Given the description of an element on the screen output the (x, y) to click on. 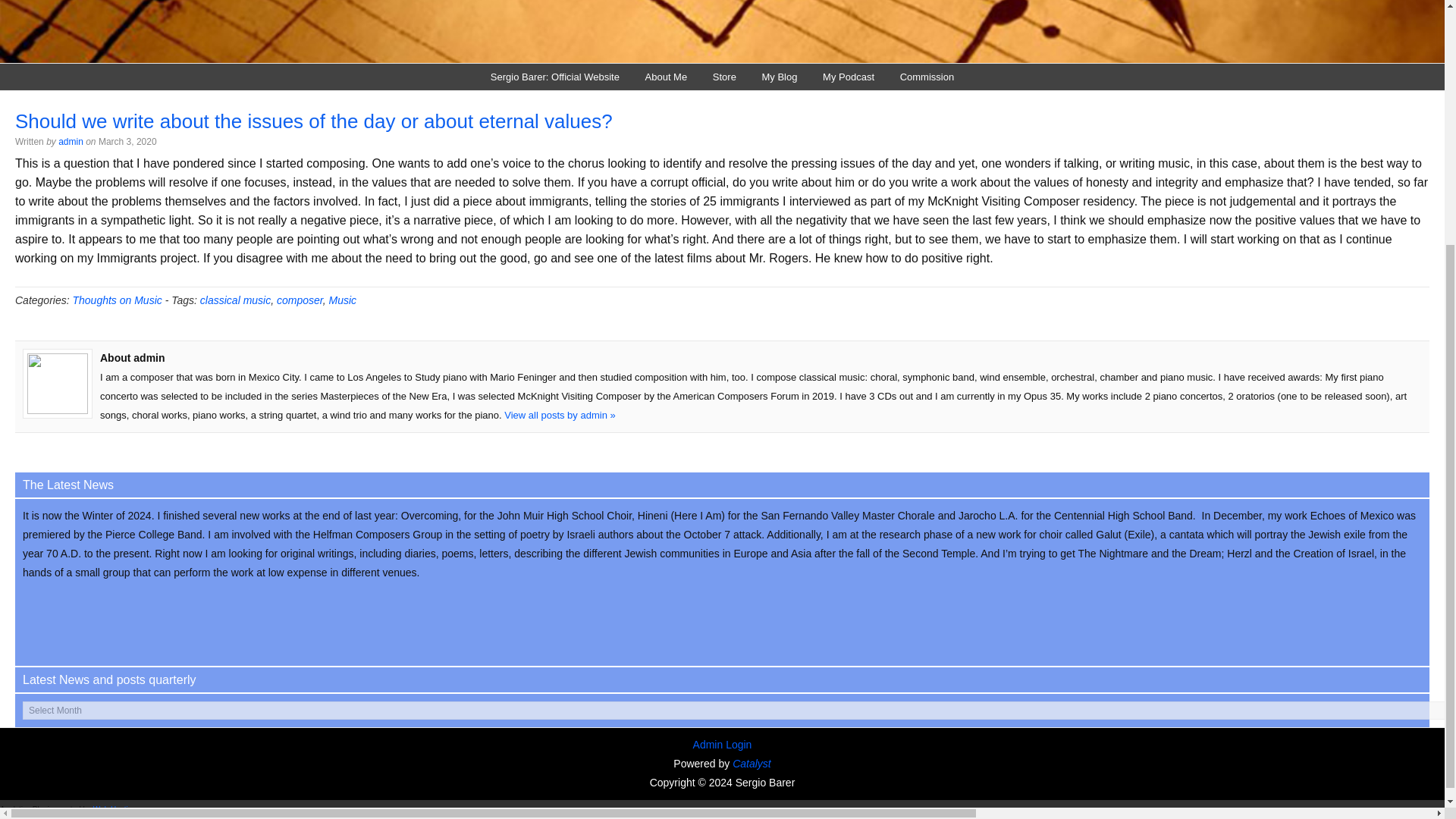
composer (299, 300)
classical music (235, 300)
Store (724, 76)
My Blog (780, 76)
Catalyst (751, 762)
Sergio Barer: Official Website (554, 76)
Web Hosting (114, 809)
Music (342, 300)
Thoughts on Music (116, 300)
Commission (927, 76)
About Me (665, 76)
Admin Login (722, 744)
admin (70, 141)
Catalyst Premium Wordpress Theme (751, 762)
My Podcast (847, 76)
